Given the description of an element on the screen output the (x, y) to click on. 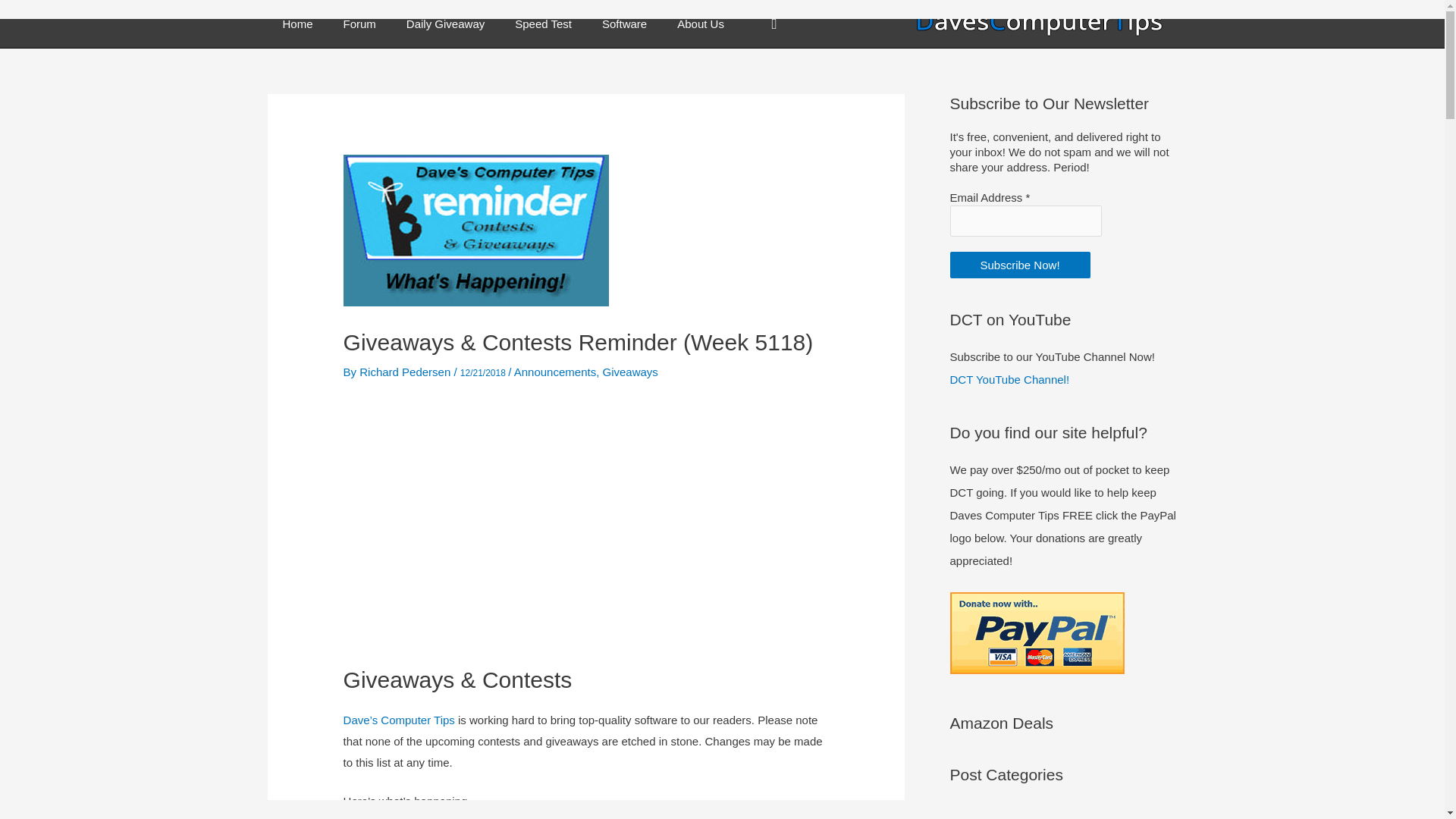
Daily Giveaway (445, 23)
Home (296, 23)
Email Address (1024, 221)
About Us (700, 23)
Subscribe Now! (1019, 264)
Forum (360, 23)
3rd party ad content (585, 524)
View all posts by Richard Pedersen (405, 371)
Speed Test (542, 23)
Software (624, 23)
